Given the description of an element on the screen output the (x, y) to click on. 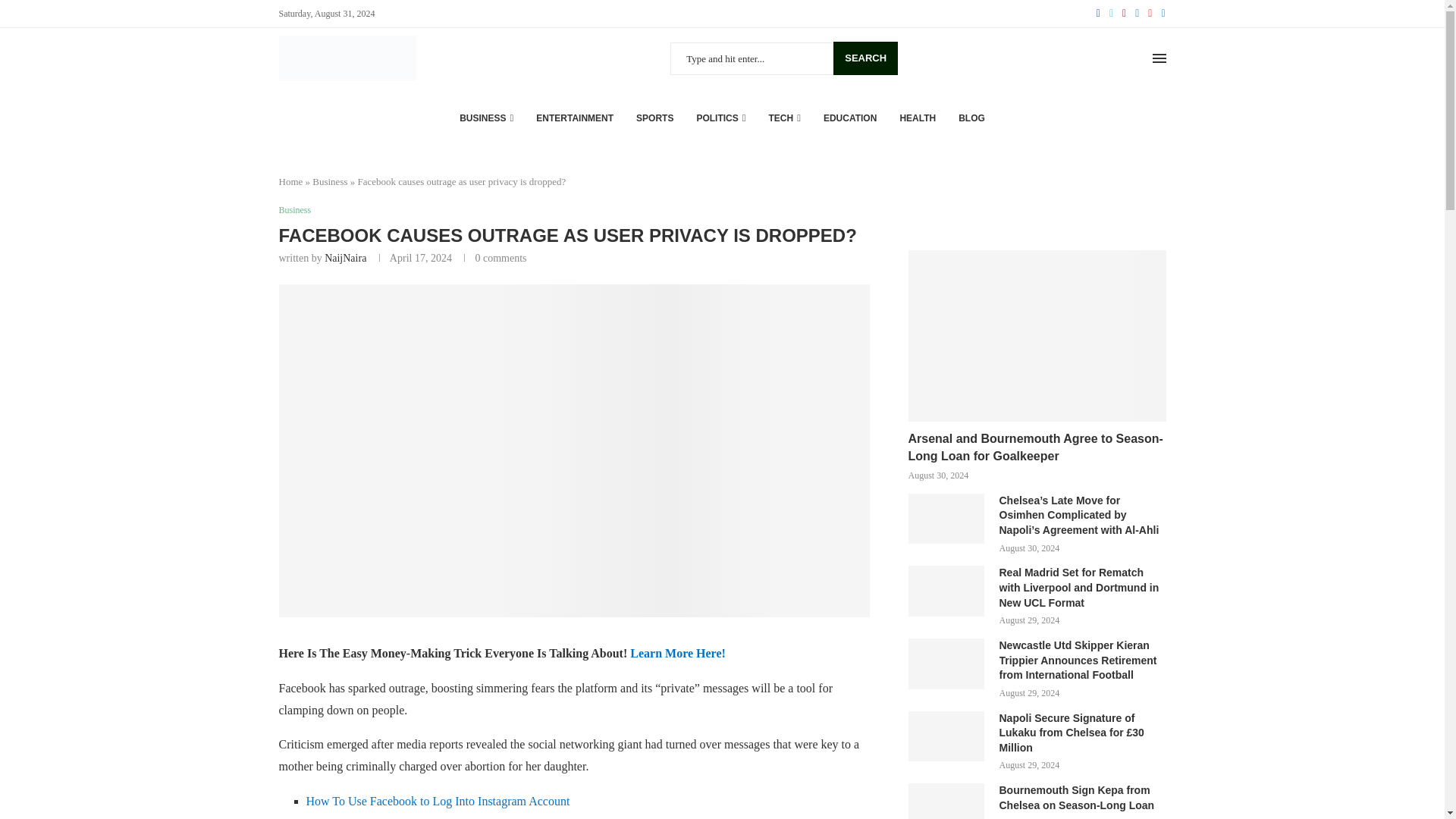
BUSINESS (486, 118)
SEARCH (865, 57)
EDUCATION (850, 118)
POLITICS (720, 118)
ENTERTAINMENT (573, 118)
